Given the description of an element on the screen output the (x, y) to click on. 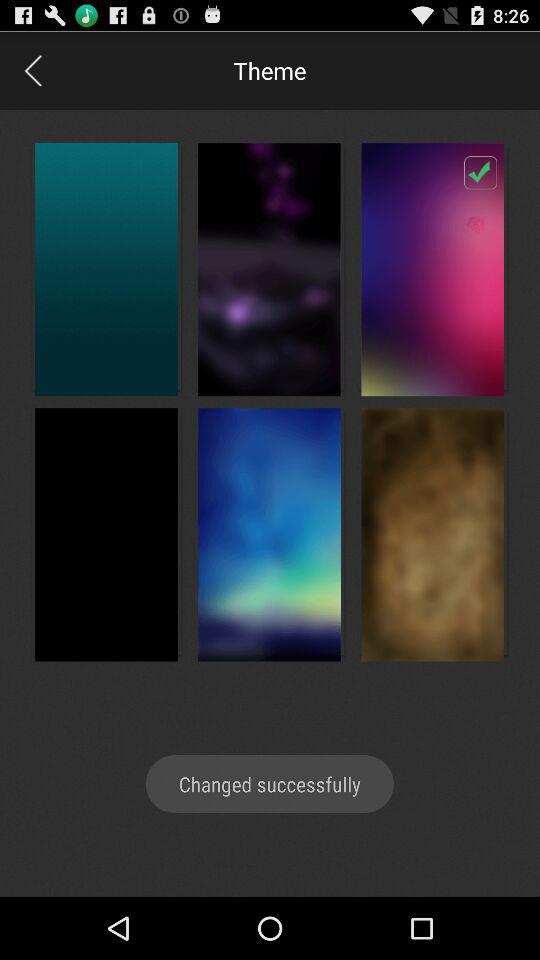
next button (32, 70)
